Given the description of an element on the screen output the (x, y) to click on. 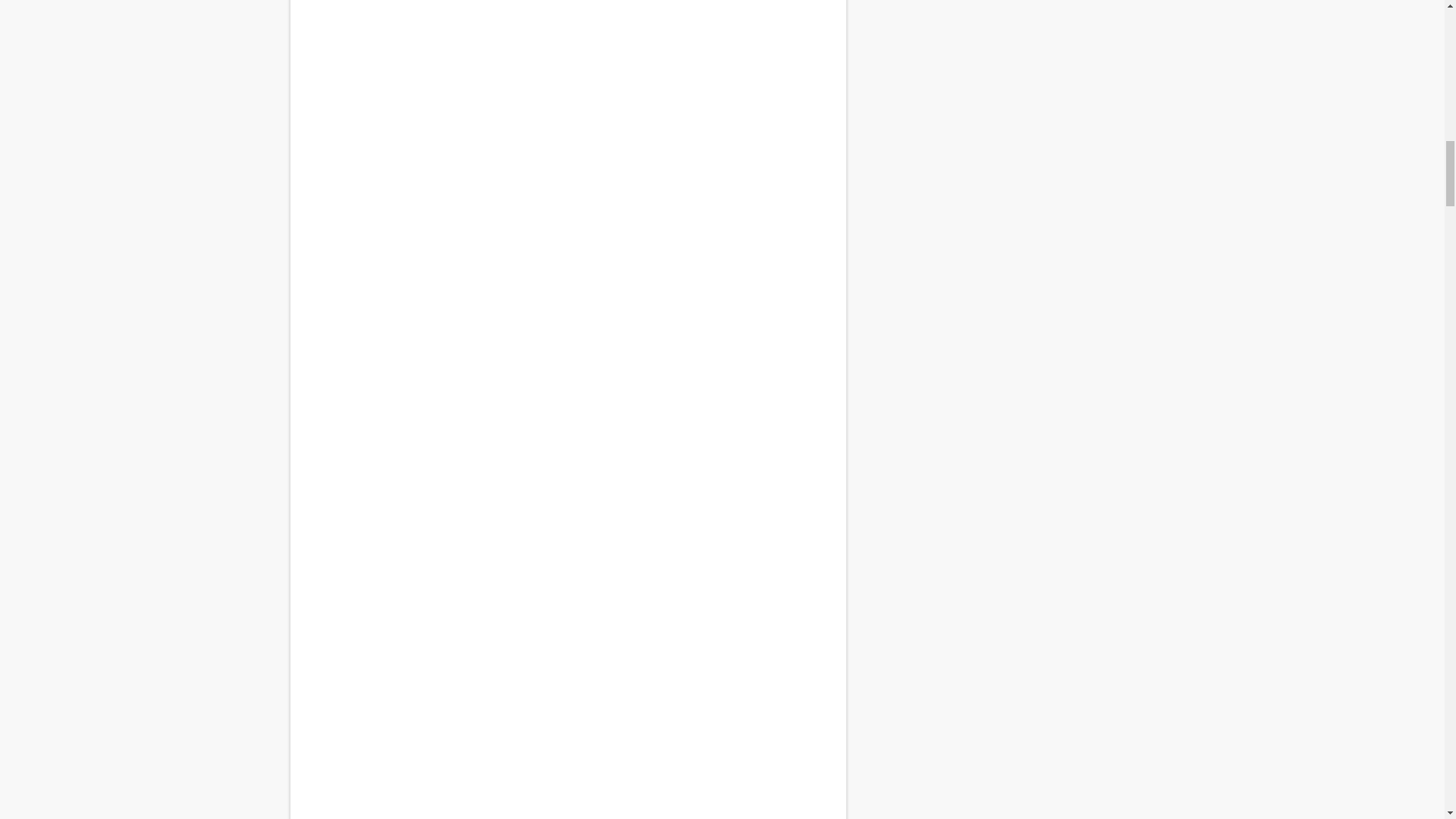
Commonly confused words (567, 796)
Learn Prepositions by Photos (567, 237)
